Given the description of an element on the screen output the (x, y) to click on. 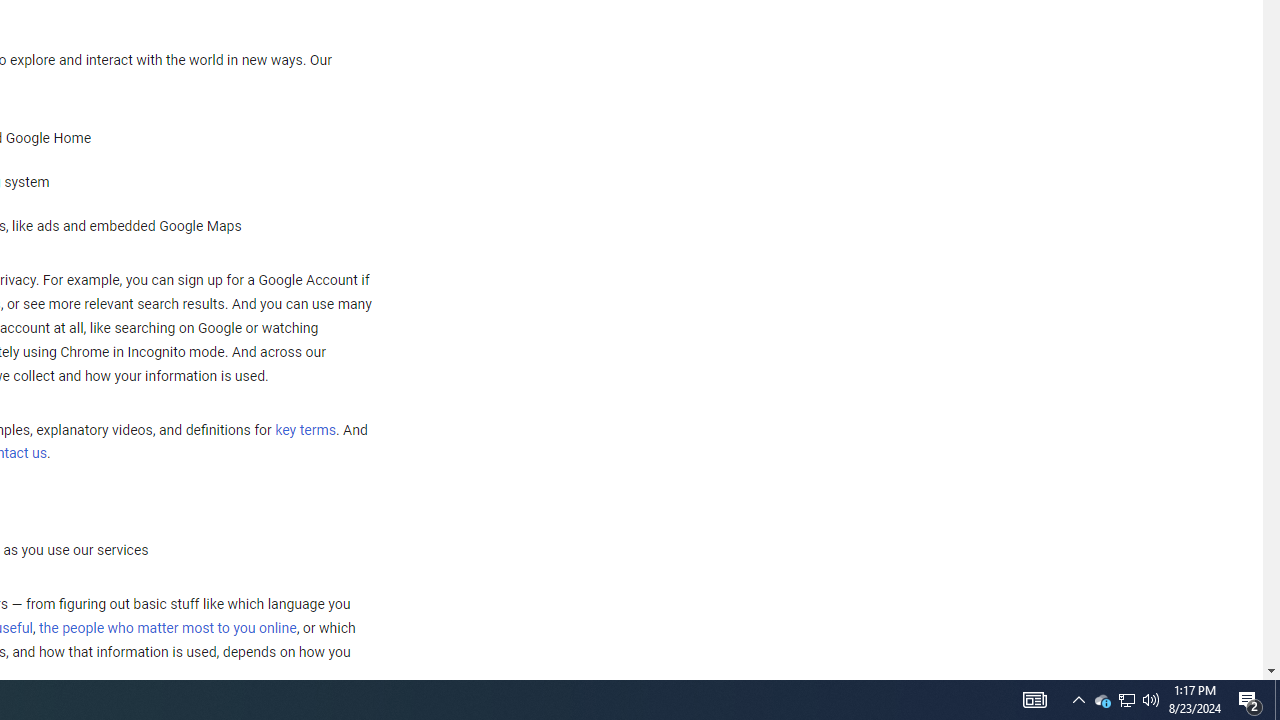
key terms (305, 430)
the people who matter most to you online (167, 628)
